Given the description of an element on the screen output the (x, y) to click on. 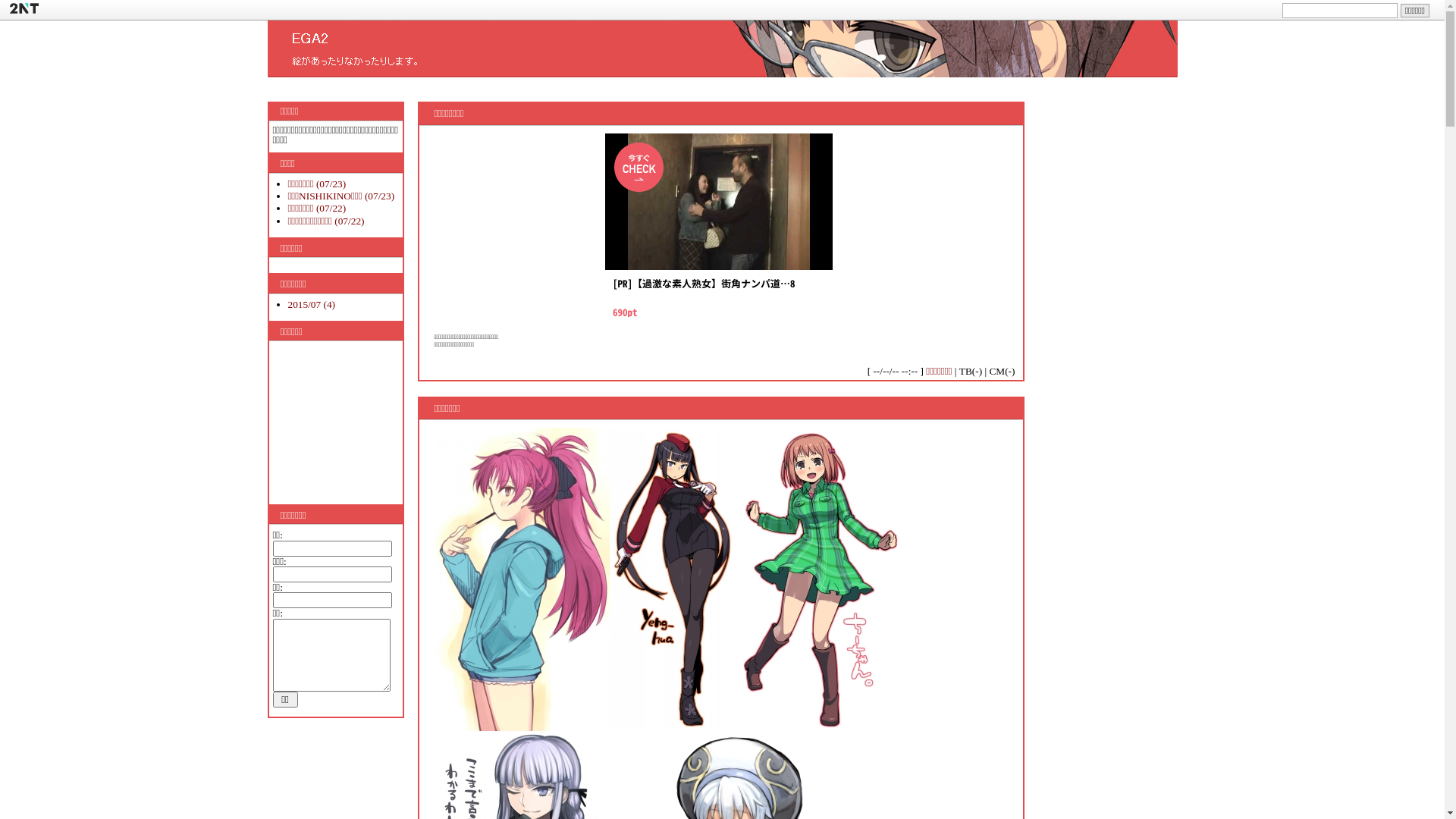
2015/07 (4) Element type: text (311, 304)
EGA2 Element type: hover (721, 72)
